Given the description of an element on the screen output the (x, y) to click on. 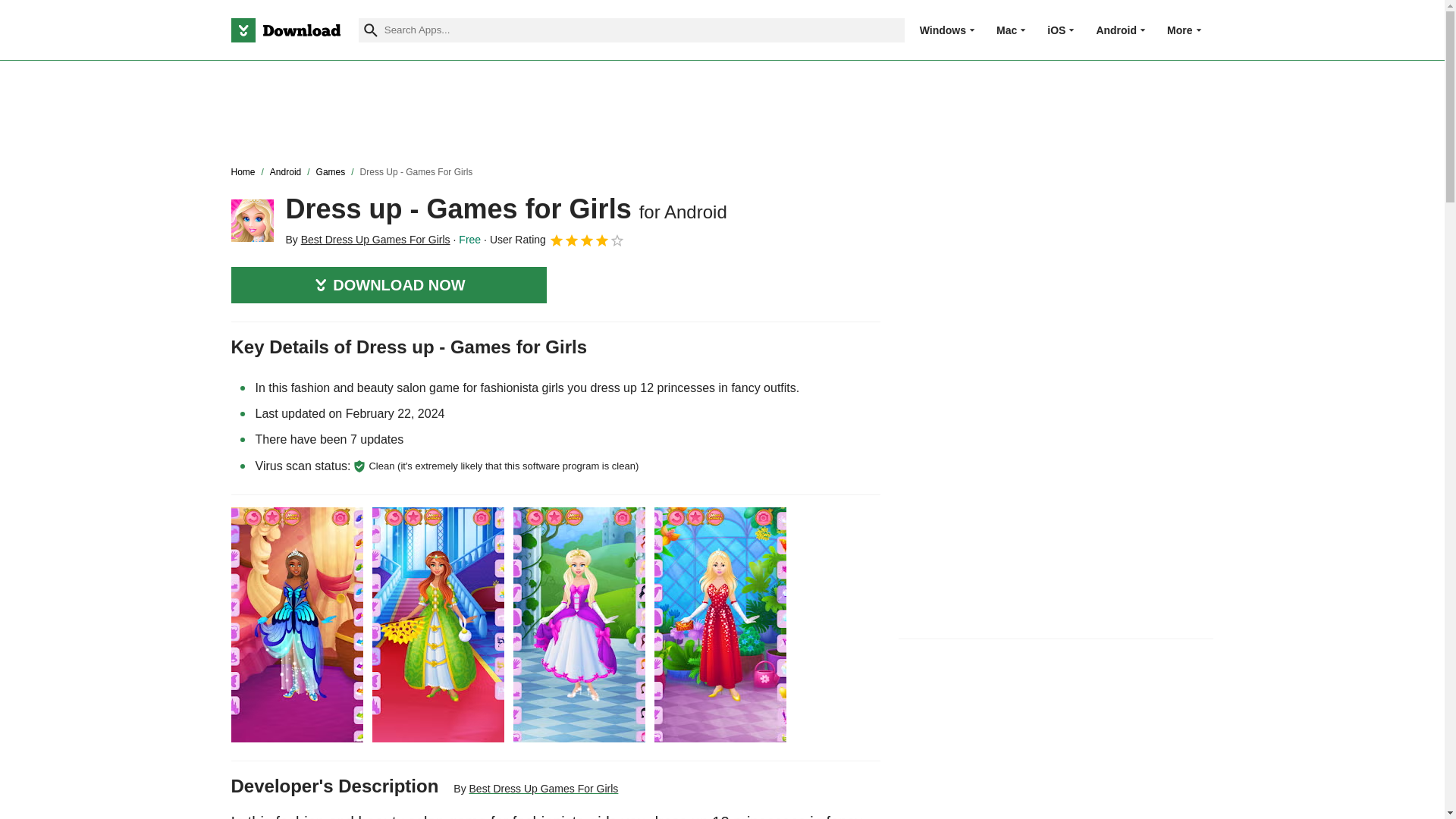
Windows (943, 29)
Dress up - Games for Girls for Android (251, 220)
Mac (1005, 29)
